Given the description of an element on the screen output the (x, y) to click on. 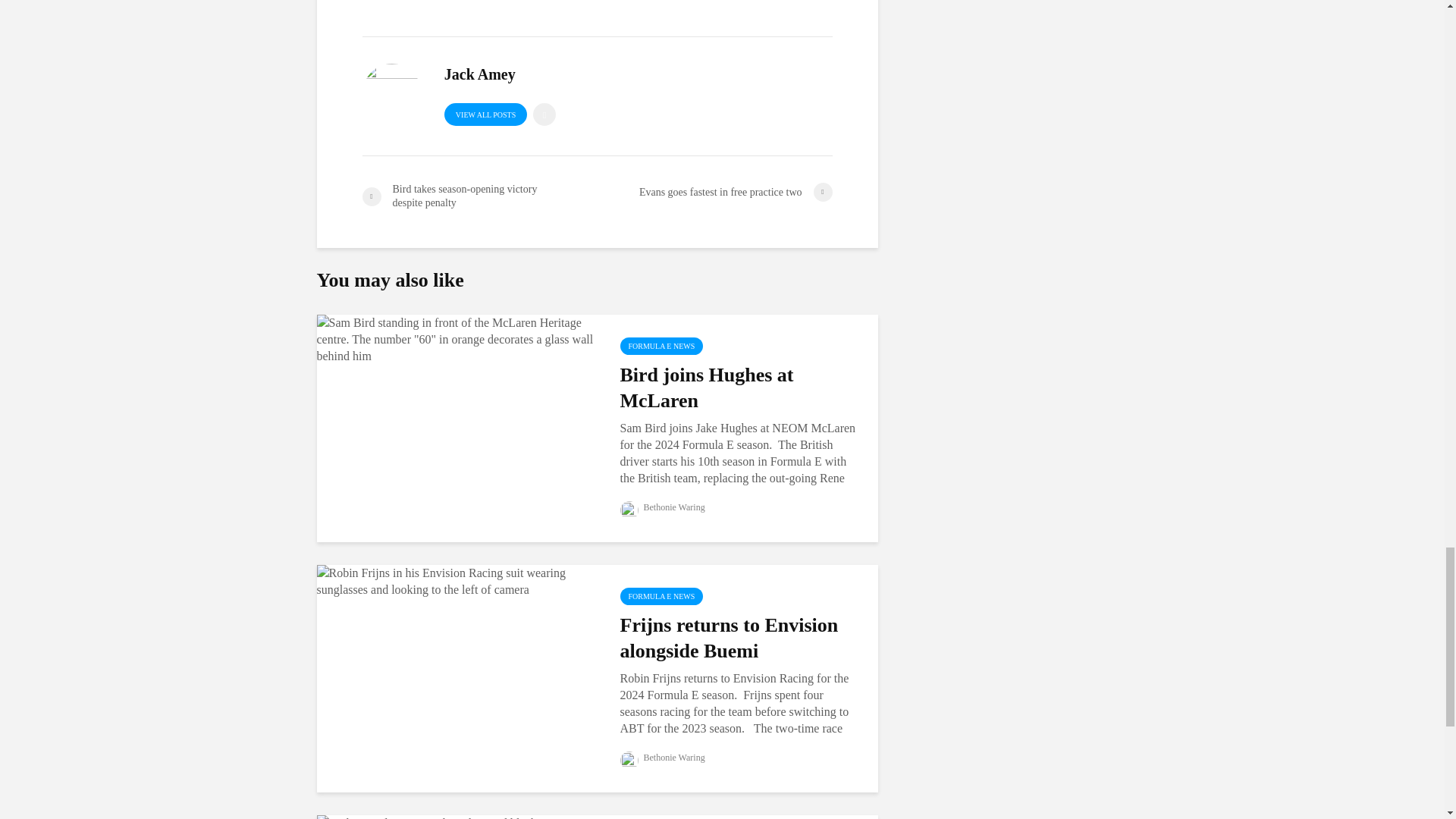
VIEW ALL POSTS (485, 114)
Frijns returns to Envision alongside Buemi (456, 580)
Bird joins Hughes at McLaren (456, 338)
